Given the description of an element on the screen output the (x, y) to click on. 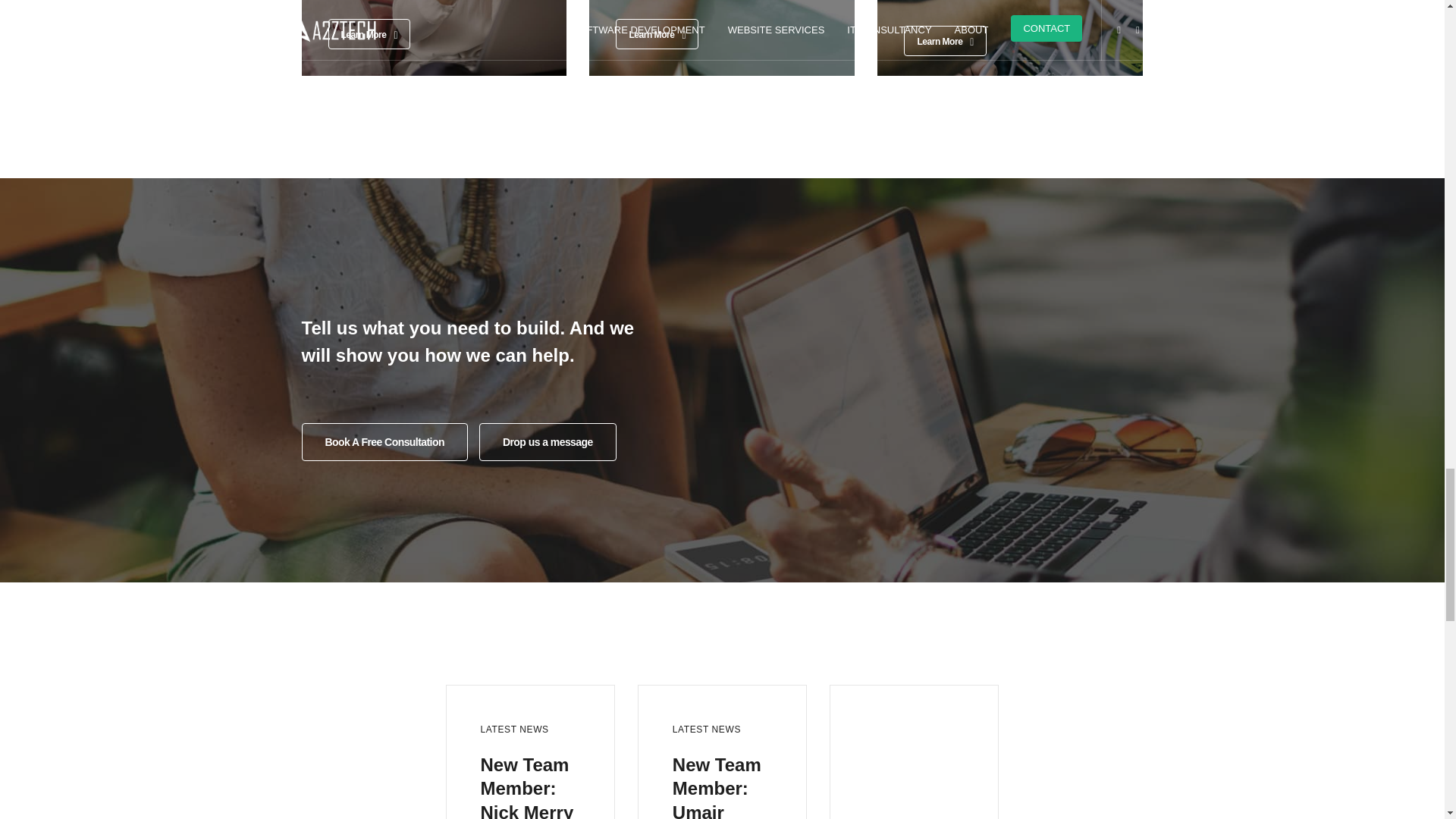
Book A Free Consultation (384, 442)
Learn More (368, 33)
Learn More (656, 33)
LATEST NEWS (514, 728)
Learn More (945, 40)
Drop us a message (547, 442)
